Given the description of an element on the screen output the (x, y) to click on. 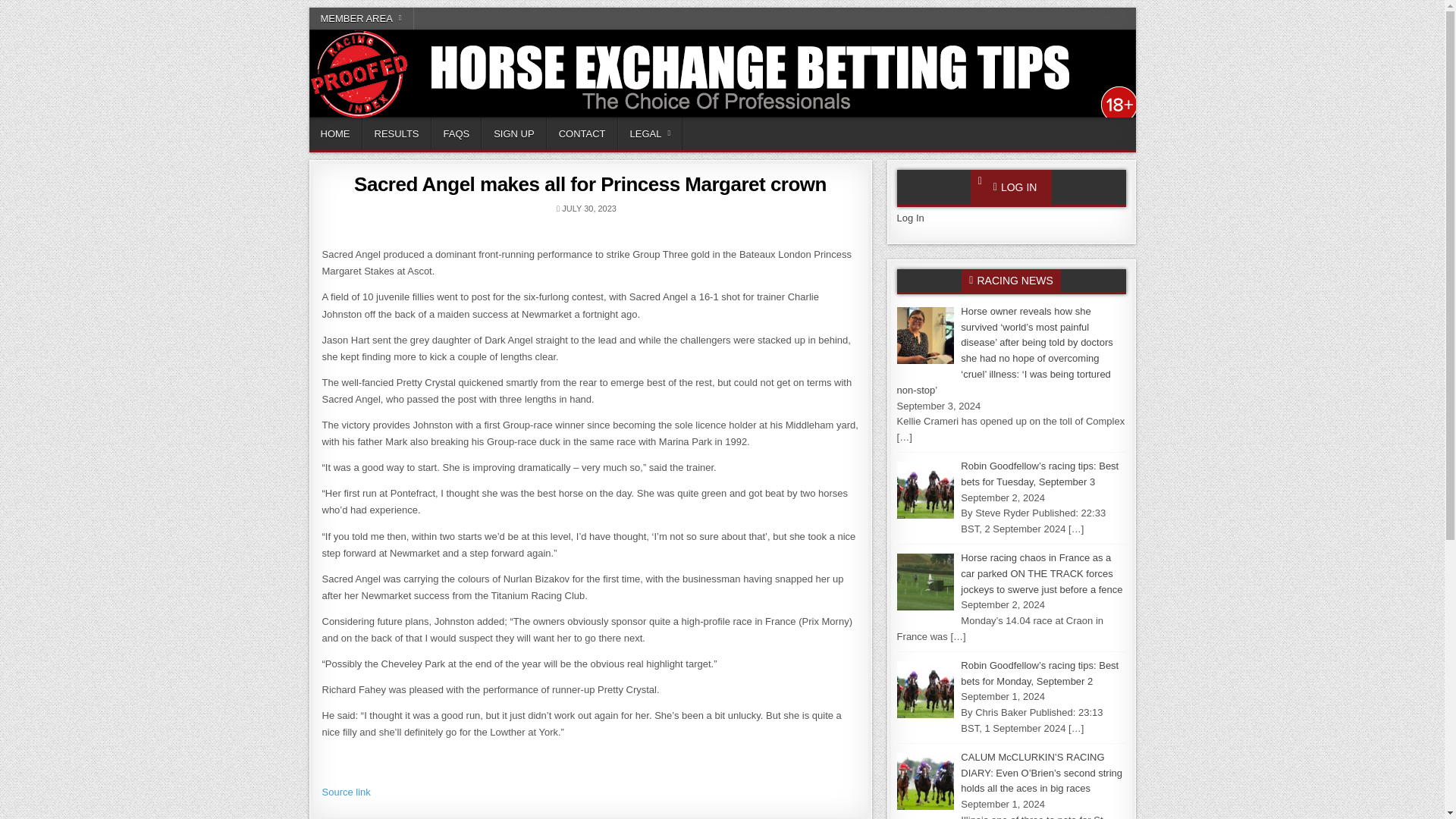
LEGAL (649, 133)
Source link (345, 791)
CONTACT (582, 133)
Sacred Angel makes all for Princess Margaret crown (590, 183)
HOME (335, 133)
SIGN UP (513, 133)
RESULTS (396, 133)
Log In (910, 217)
FAQS (455, 133)
MEMBER AREA (360, 18)
